Given the description of an element on the screen output the (x, y) to click on. 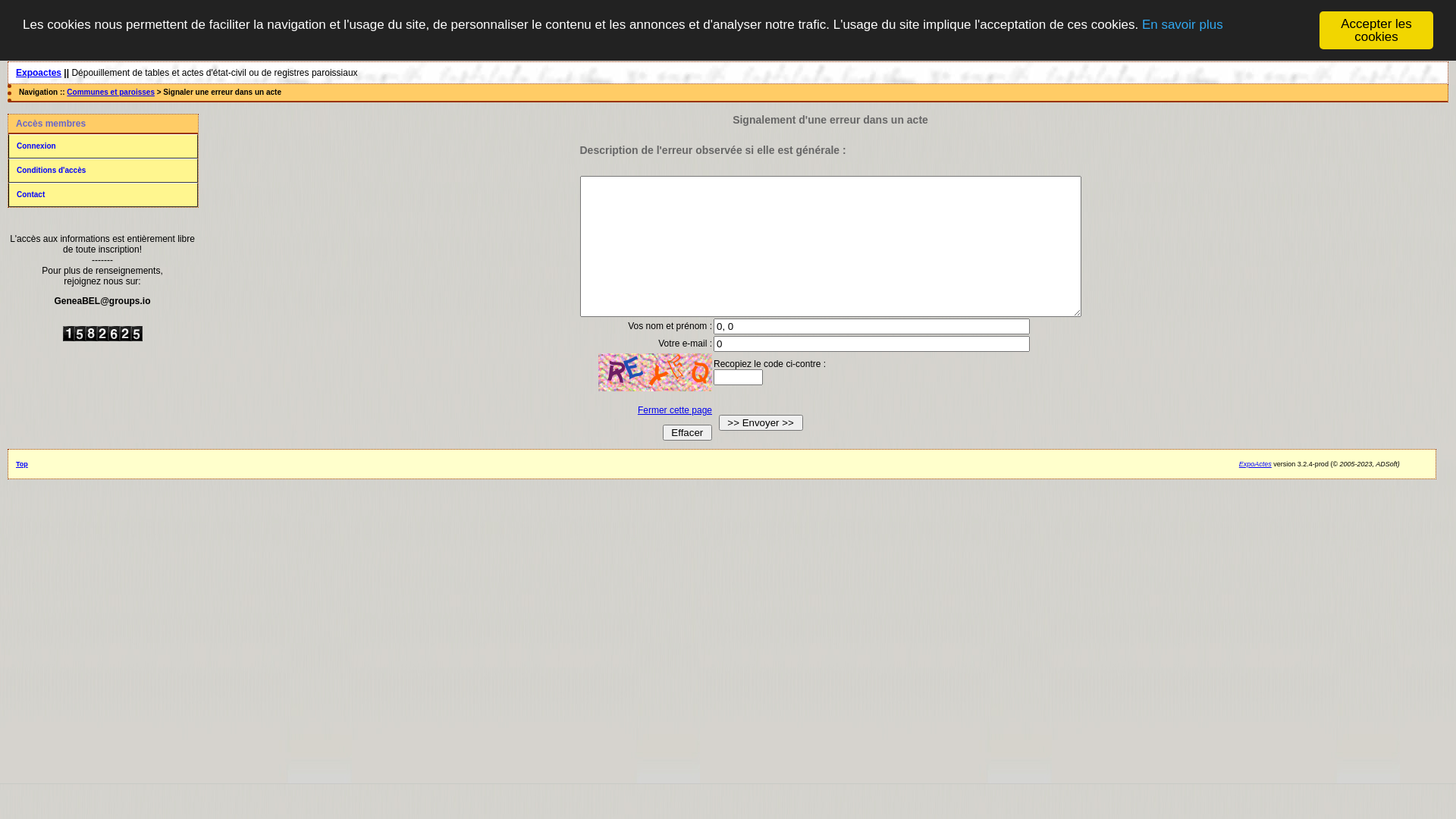
Fermer cette page Element type: text (674, 409)
Top Element type: text (21, 463)
Expoactes Element type: text (38, 72)
En savoir plus Element type: text (1182, 23)
Connexion Element type: text (102, 146)
ExpoActes Element type: text (1255, 463)
Contact Element type: text (102, 194)
 >> Envoyer >>  Element type: text (760, 422)
Communes et paroisses Element type: text (110, 91)
Accepter les cookies Element type: text (1376, 30)
